Given the description of an element on the screen output the (x, y) to click on. 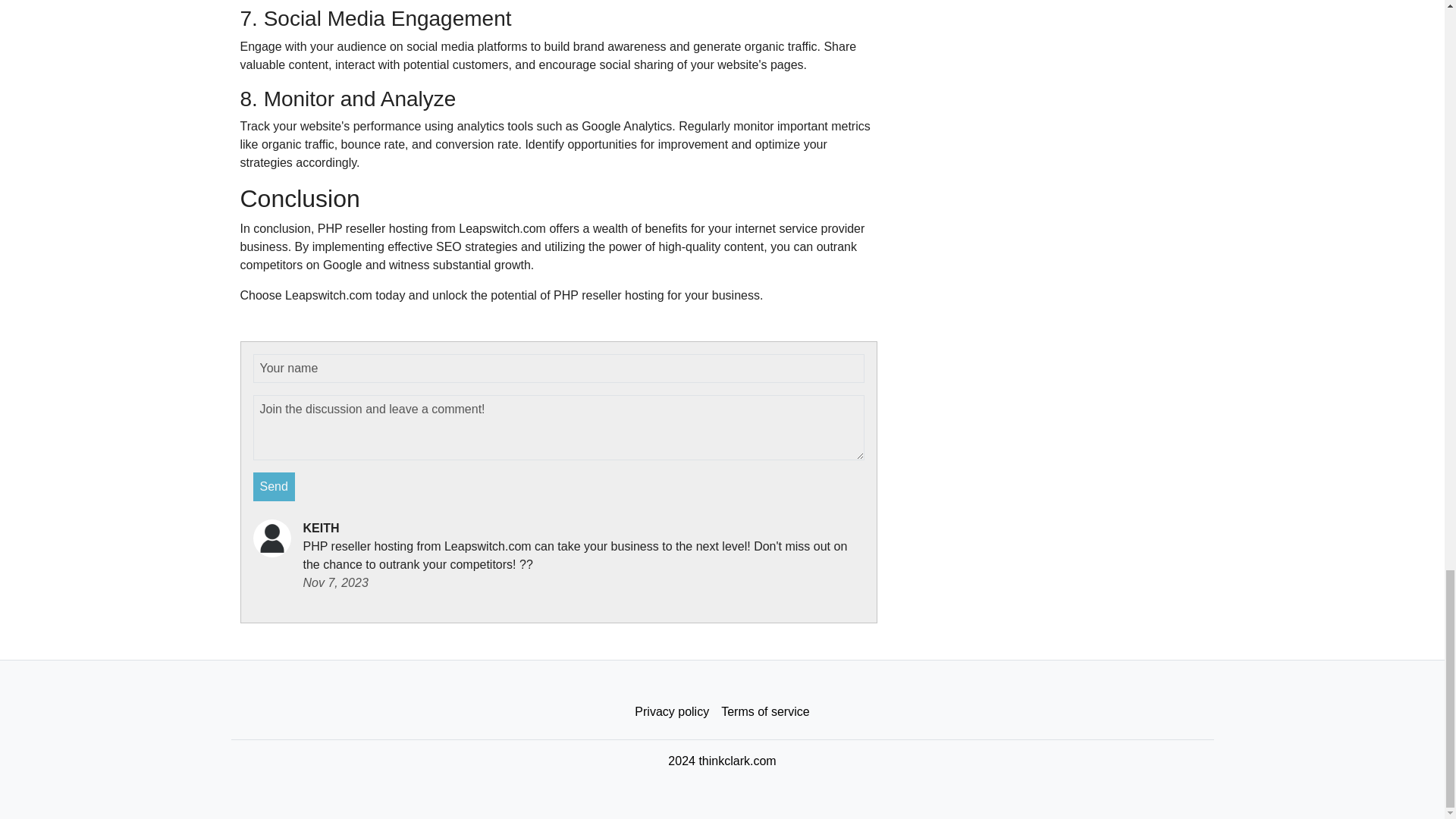
Privacy policy (671, 711)
Terms of service (764, 711)
Send (274, 486)
Send (274, 486)
